Given the description of an element on the screen output the (x, y) to click on. 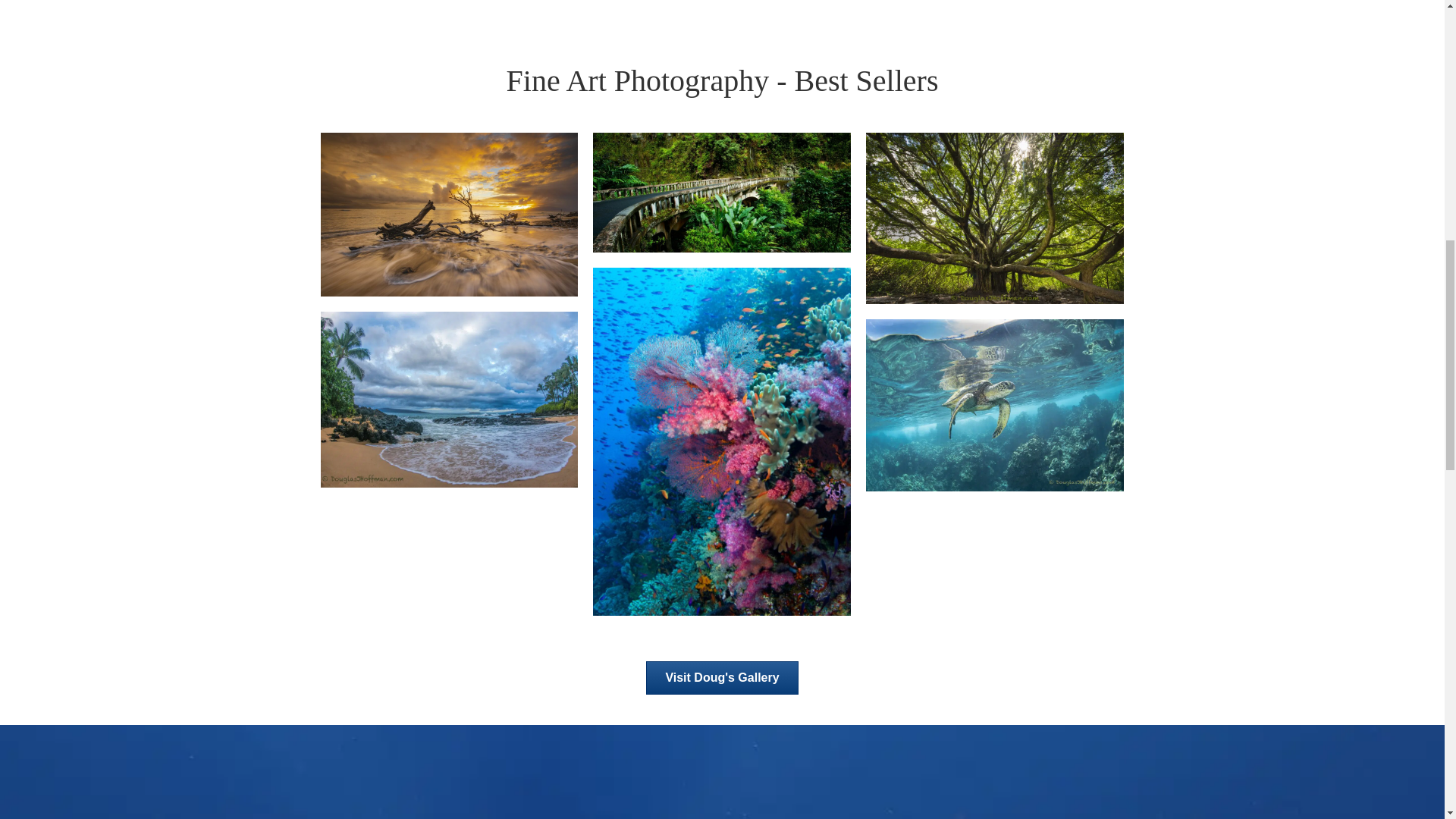
Honu Reflection (995, 405)
Underwater Photography Scuba Diving Trip to Fiji and Tonga (721, 441)
hawaii-photography-workshops (721, 191)
Visit Doug's Gallery (721, 677)
Forces-of-Nature (449, 213)
King of the Forest (995, 217)
Makena Cove (449, 399)
